Given the description of an element on the screen output the (x, y) to click on. 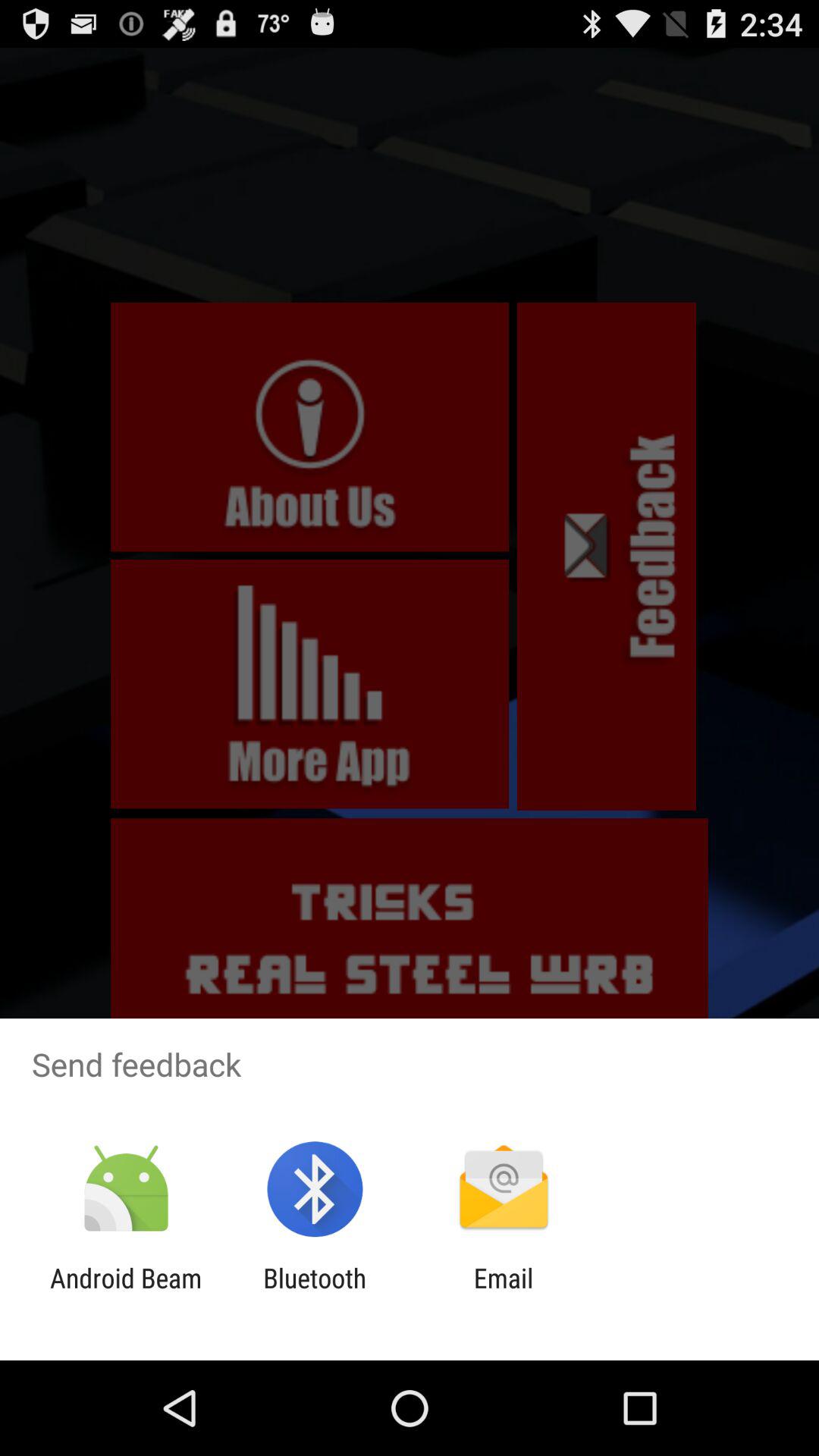
launch the item to the right of the android beam icon (314, 1293)
